Given the description of an element on the screen output the (x, y) to click on. 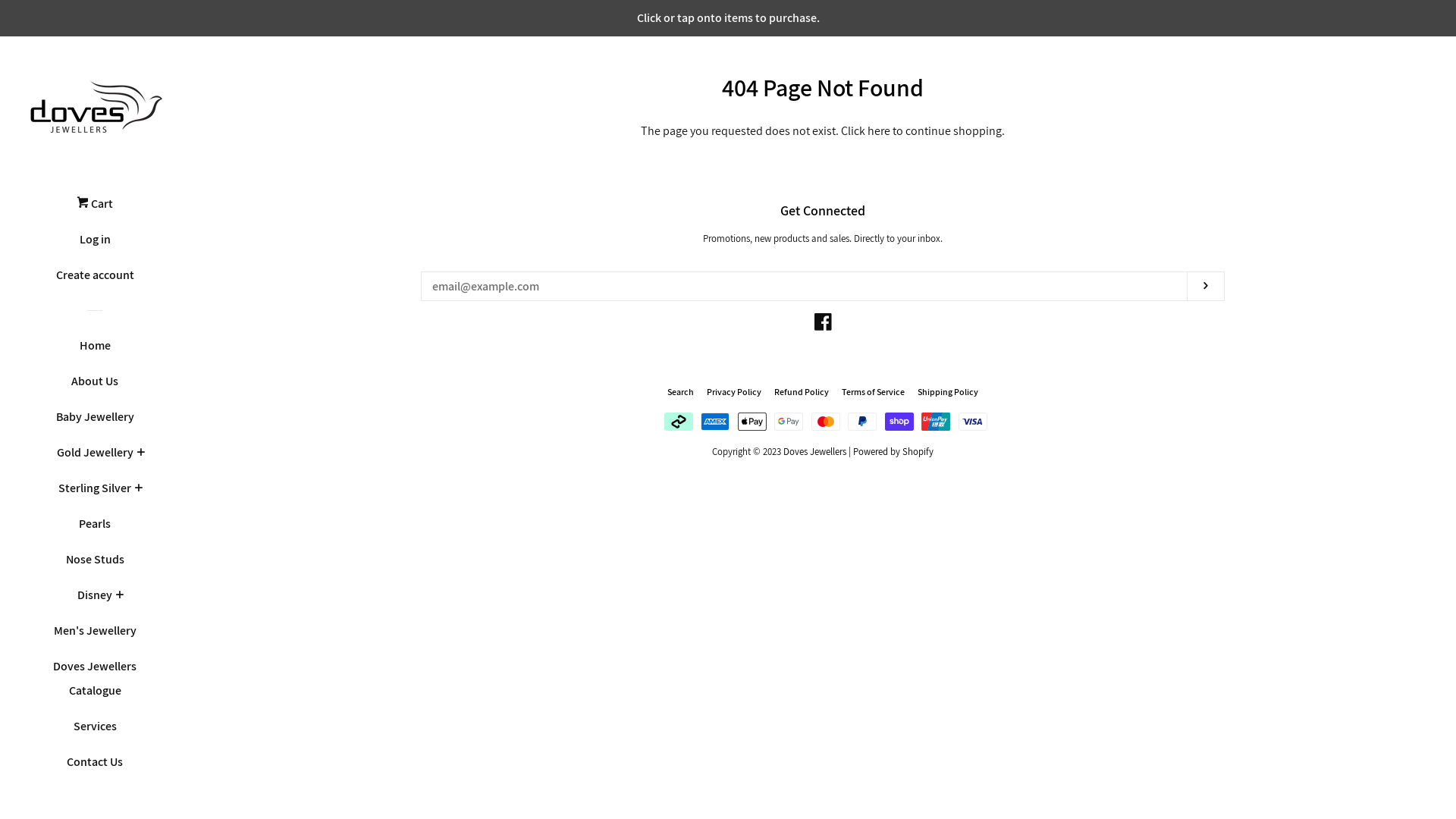
Shipping Policy Element type: text (947, 391)
Doves Jewellers Catalogue Element type: text (94, 684)
Services Element type: text (94, 731)
Search Element type: text (680, 391)
Gold Jewellery Element type: text (94, 458)
Close Element type: text (1406, 100)
Create account Element type: text (94, 280)
Powered by Shopify Element type: text (893, 451)
Pearls Element type: text (94, 529)
Log in Element type: text (94, 245)
Sterling Silver Element type: text (94, 493)
Privacy Policy Element type: text (733, 391)
About Us Element type: text (94, 386)
Disney Element type: text (94, 600)
Facebook Element type: text (821, 324)
Cart Element type: text (94, 209)
here Element type: text (878, 130)
Subscribe Element type: text (1205, 286)
Baby Jewellery Element type: text (94, 422)
Home Element type: text (94, 351)
Refund Policy Element type: text (801, 391)
Nose Studs Element type: text (94, 565)
Contact Us Element type: text (94, 767)
Terms of Service Element type: text (872, 391)
Men's Jewellery Element type: text (94, 636)
Doves Jewellers Element type: text (814, 451)
